Given the description of an element on the screen output the (x, y) to click on. 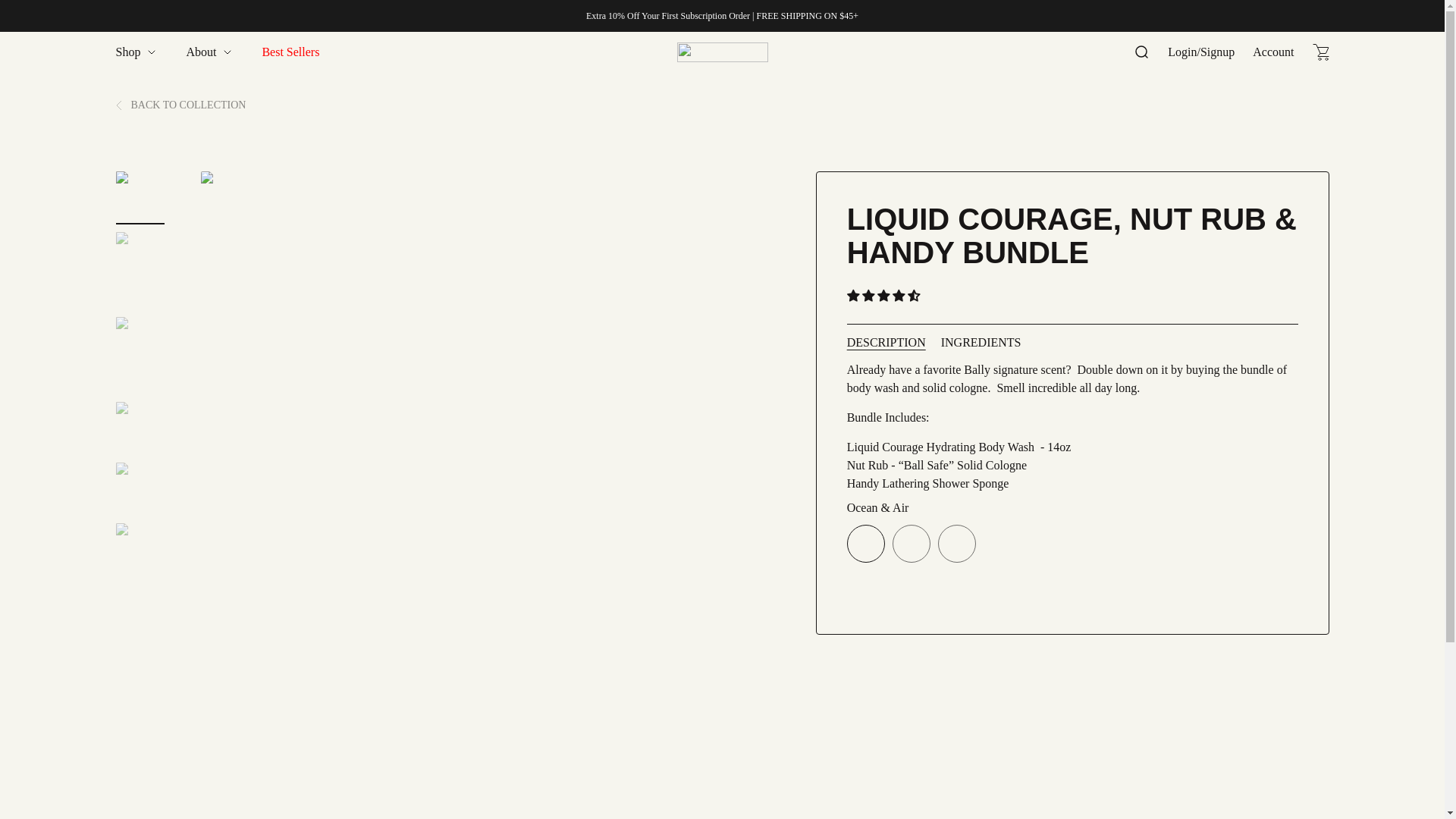
Open search (1141, 52)
Best Sellers (290, 51)
Ballsy (722, 52)
